Given the description of an element on the screen output the (x, y) to click on. 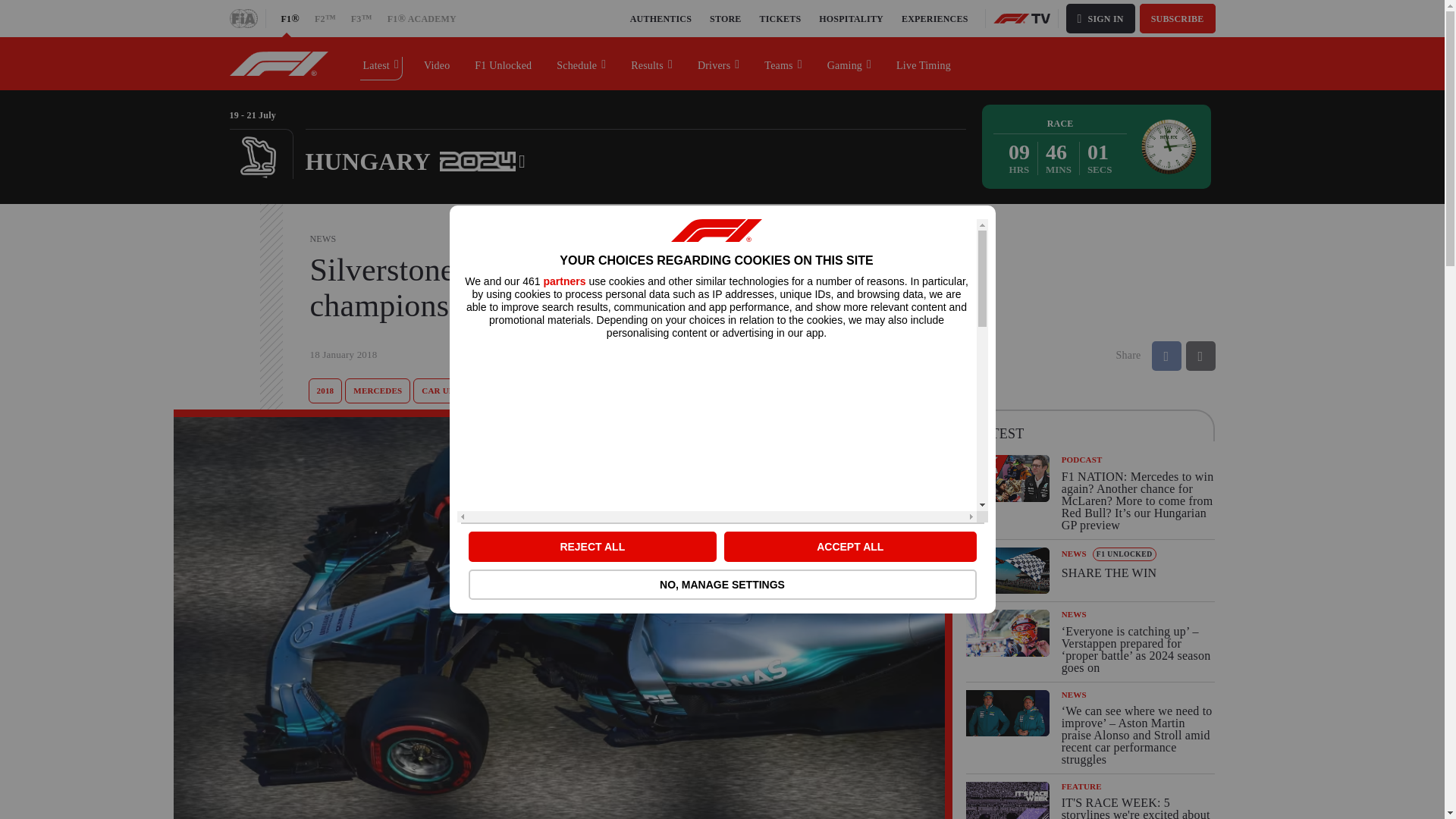
Live Timing (923, 63)
TICKETS (781, 18)
CAR UPGRADES (455, 390)
Results (651, 63)
F1 Unlocked (1090, 570)
SIGN IN (503, 63)
HOSPITALITY (1100, 18)
AUTHENTICS (850, 18)
Teams (660, 18)
MERCEDES (782, 63)
Drivers (377, 390)
Gaming (718, 63)
Latest (849, 63)
